Given the description of an element on the screen output the (x, y) to click on. 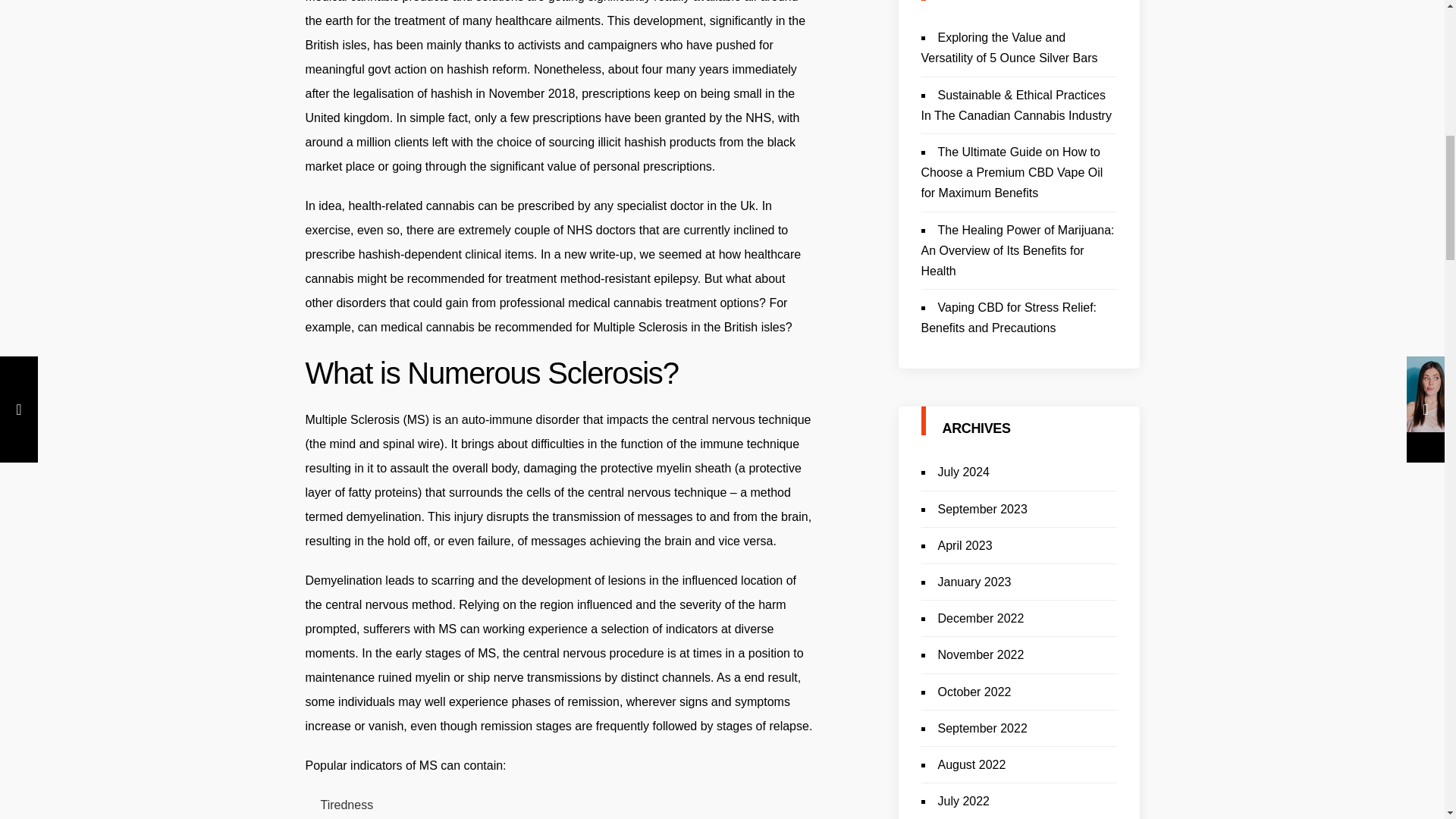
December 2022 (980, 617)
April 2023 (964, 545)
January 2023 (973, 581)
July 2024 (963, 472)
September 2023 (981, 508)
Exploring the Value and Versatility of 5 Ounce Silver Bars (1008, 47)
Vaping CBD for Stress Relief: Benefits and Precautions (1008, 317)
November 2022 (980, 654)
